Given the description of an element on the screen output the (x, y) to click on. 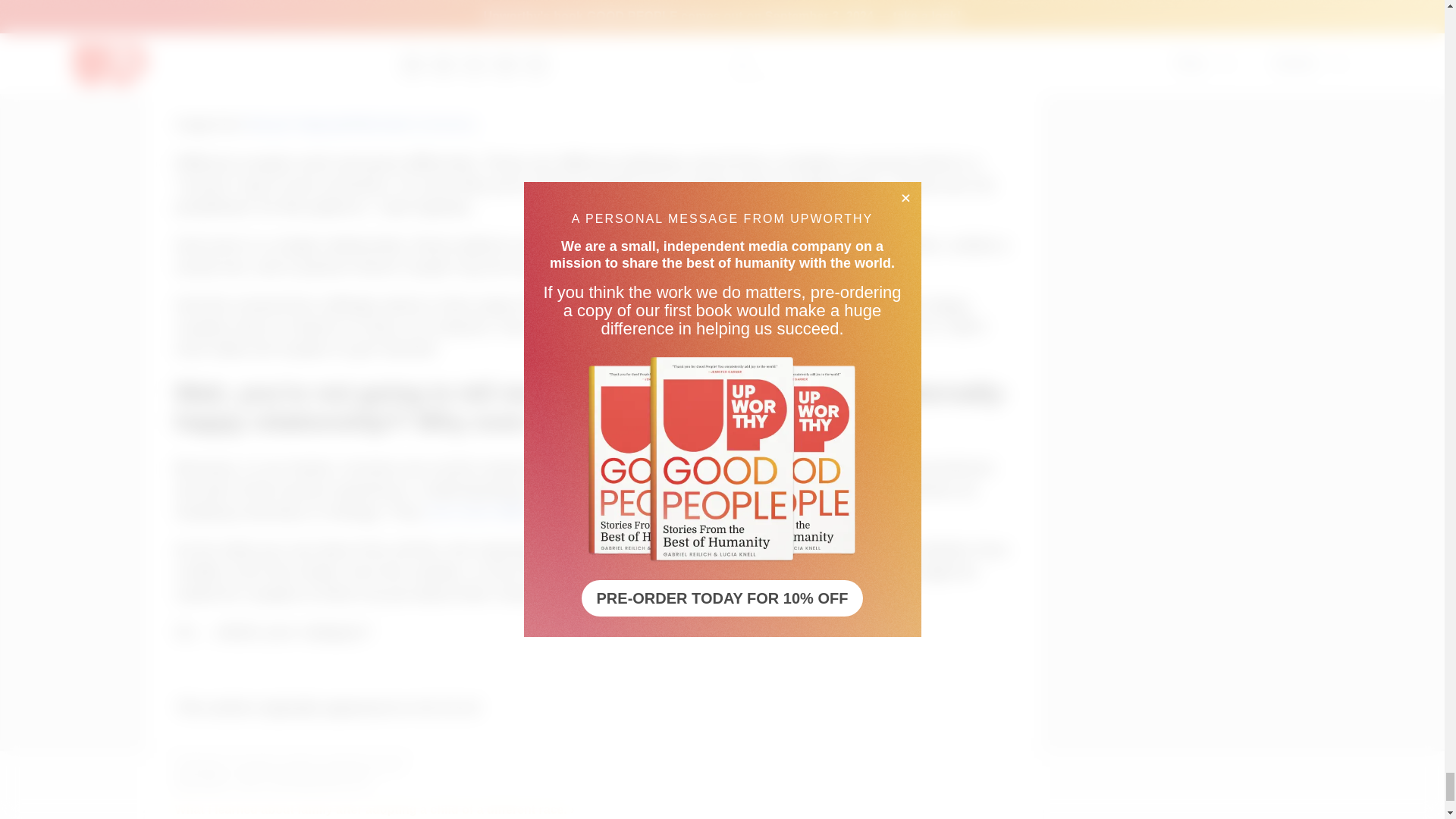
User:Maryam Mgonja (361, 124)
